Given the description of an element on the screen output the (x, y) to click on. 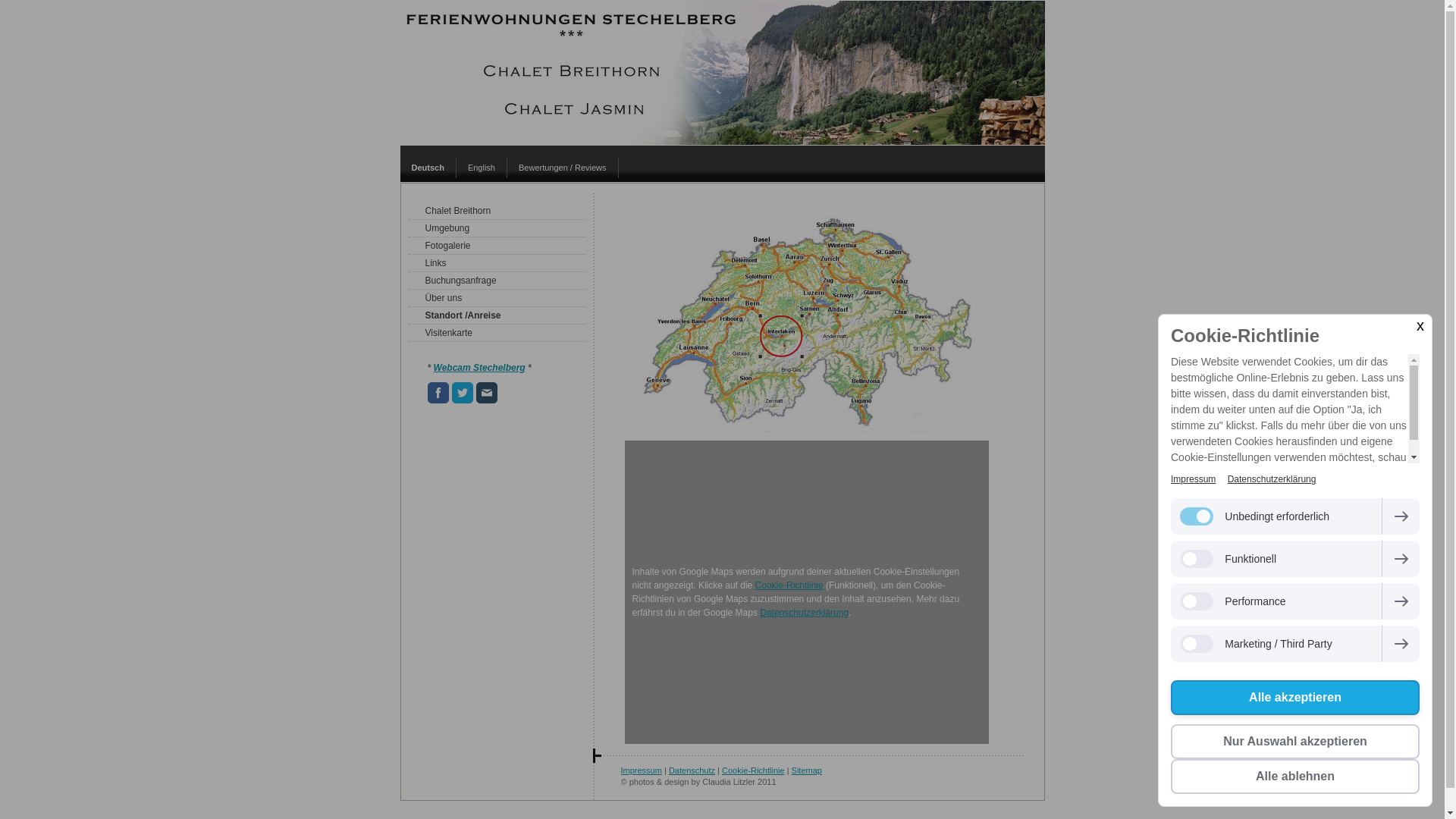
Umgebung Element type: text (496, 228)
Datenschutz Element type: text (691, 770)
Buchungsanfrage Element type: text (496, 280)
Cookie-Richtlinie Element type: text (752, 770)
Nur Auswahl akzeptieren Element type: text (1294, 741)
Cookie-Richtlinie Element type: text (789, 585)
E-Mail Element type: hover (486, 392)
Chalet Breithorn Element type: text (496, 210)
Deutsch Element type: text (428, 167)
English Element type: text (481, 167)
Bewertungen / Reviews Element type: text (562, 167)
Fotogalerie Element type: text (496, 245)
Standort /Anreise Element type: text (496, 315)
Alle akzeptieren Element type: text (1294, 697)
Links Element type: text (496, 263)
Visitenkarte Element type: text (496, 333)
Sitemap Element type: text (806, 770)
Impressum Element type: text (1192, 478)
Impressum Element type: text (640, 770)
Webcam Stechelberg Element type: text (479, 367)
Facebook Element type: hover (437, 392)
Alle ablehnen Element type: text (1294, 776)
Twitter Element type: hover (462, 392)
